Given the description of an element on the screen output the (x, y) to click on. 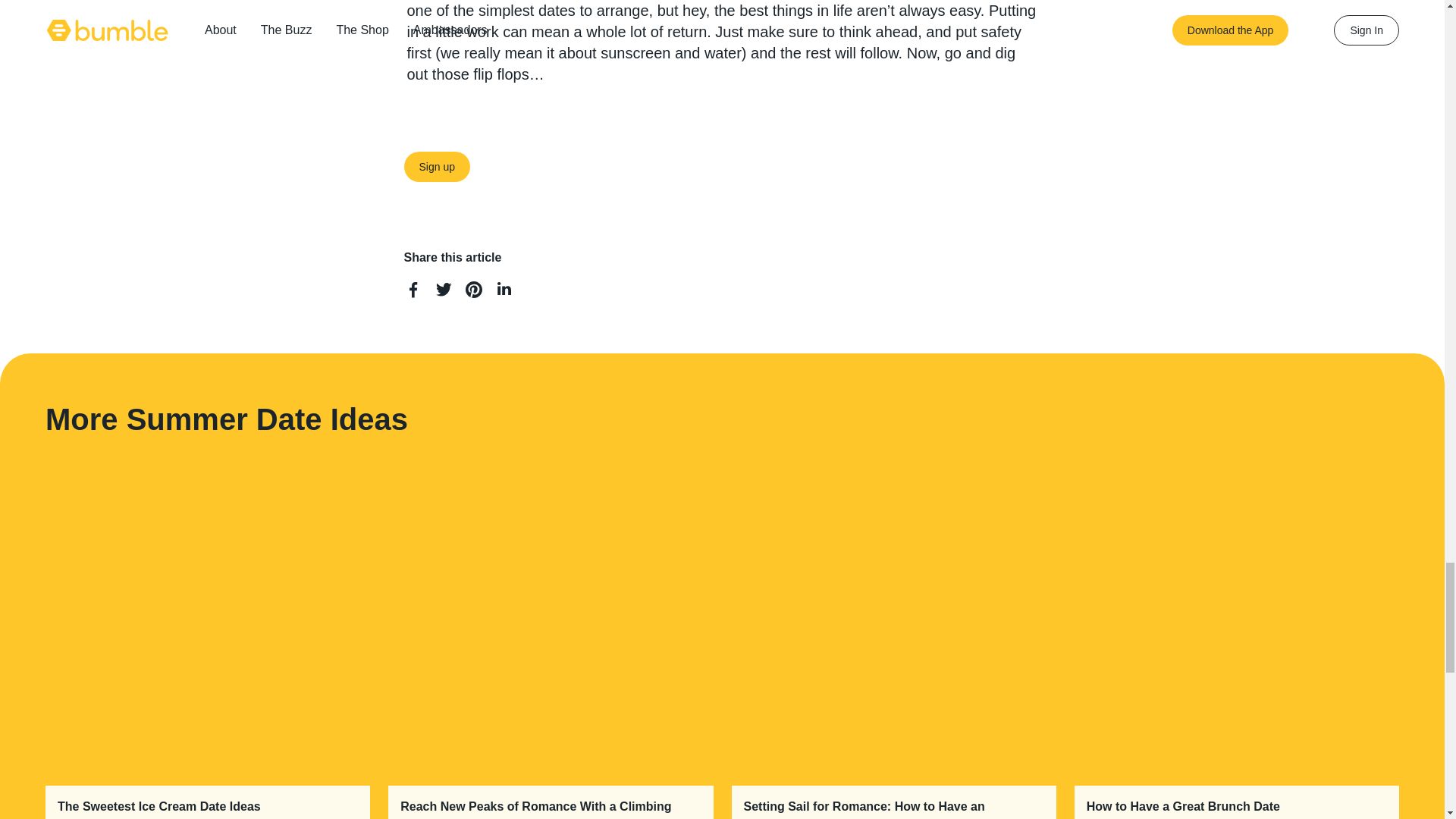
Sign up (435, 166)
More Summer Date Ideas (226, 418)
